Given the description of an element on the screen output the (x, y) to click on. 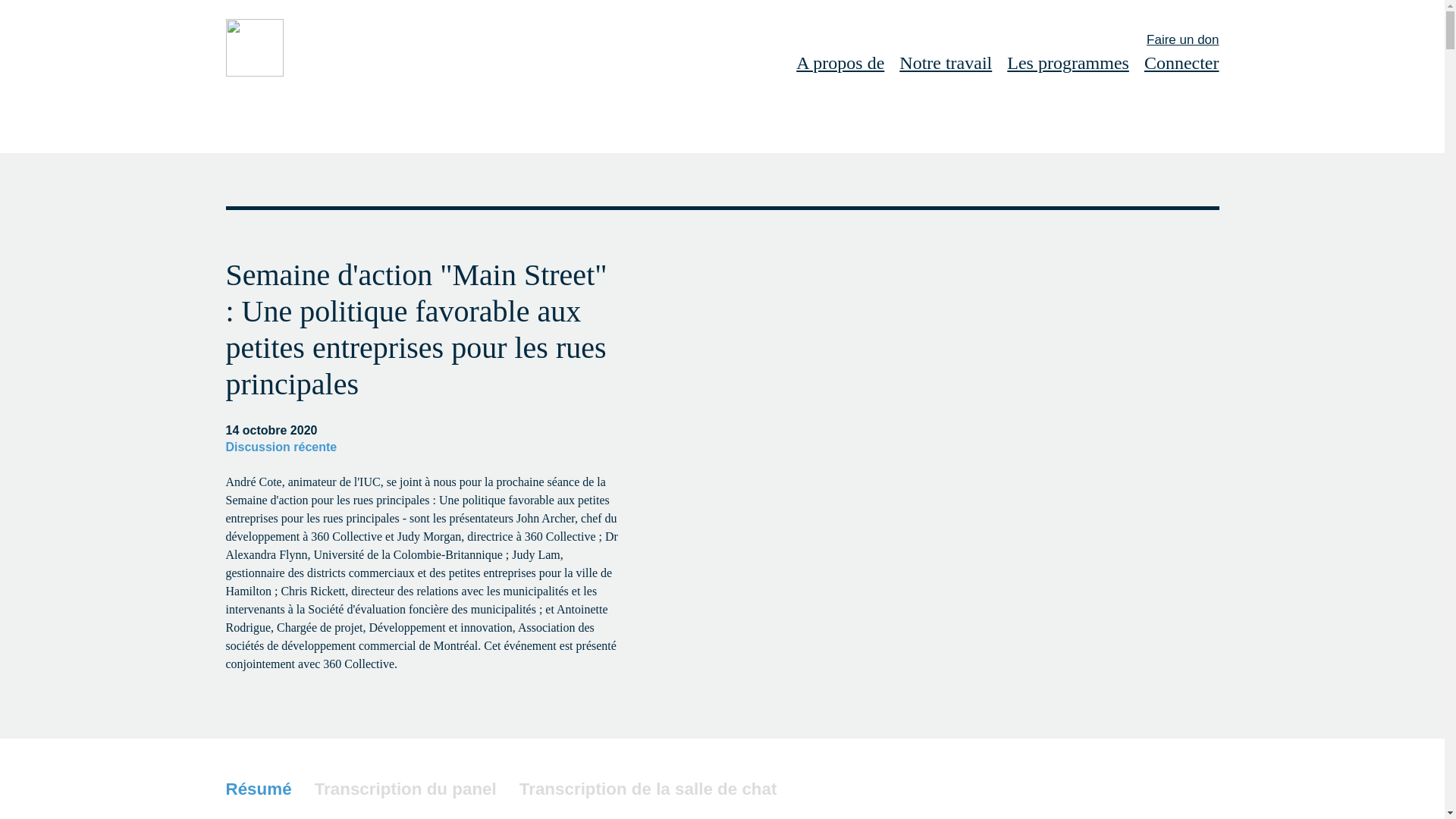
Les programmes (1067, 63)
Faire un don (1181, 39)
Notre travail (944, 63)
A propos de (840, 63)
Connecter (1182, 63)
